Given the description of an element on the screen output the (x, y) to click on. 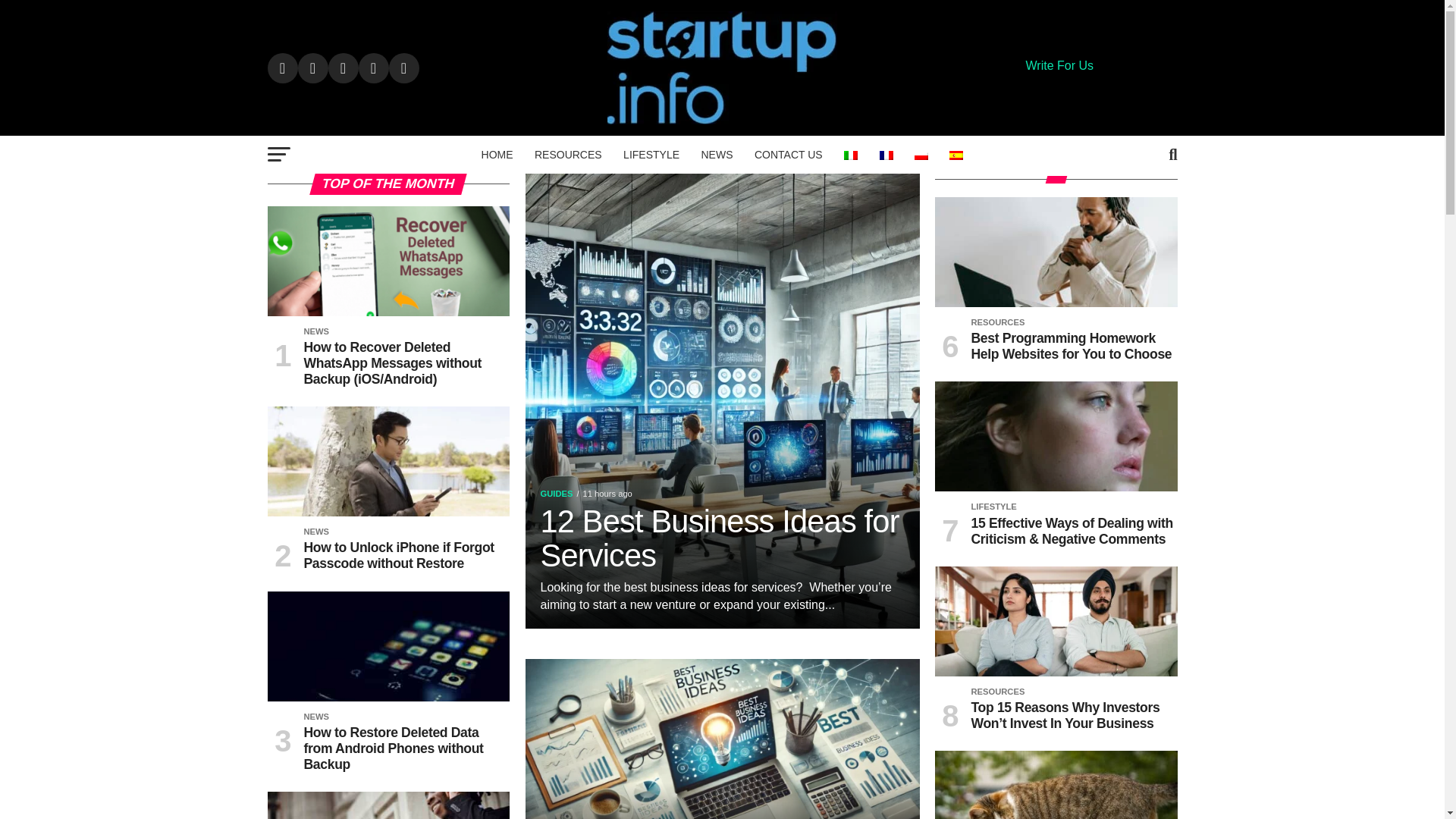
RESOURCES (568, 154)
LIFESTYLE (651, 154)
HOME (496, 154)
NEWS (716, 154)
Write For Us (1059, 65)
